Given the description of an element on the screen output the (x, y) to click on. 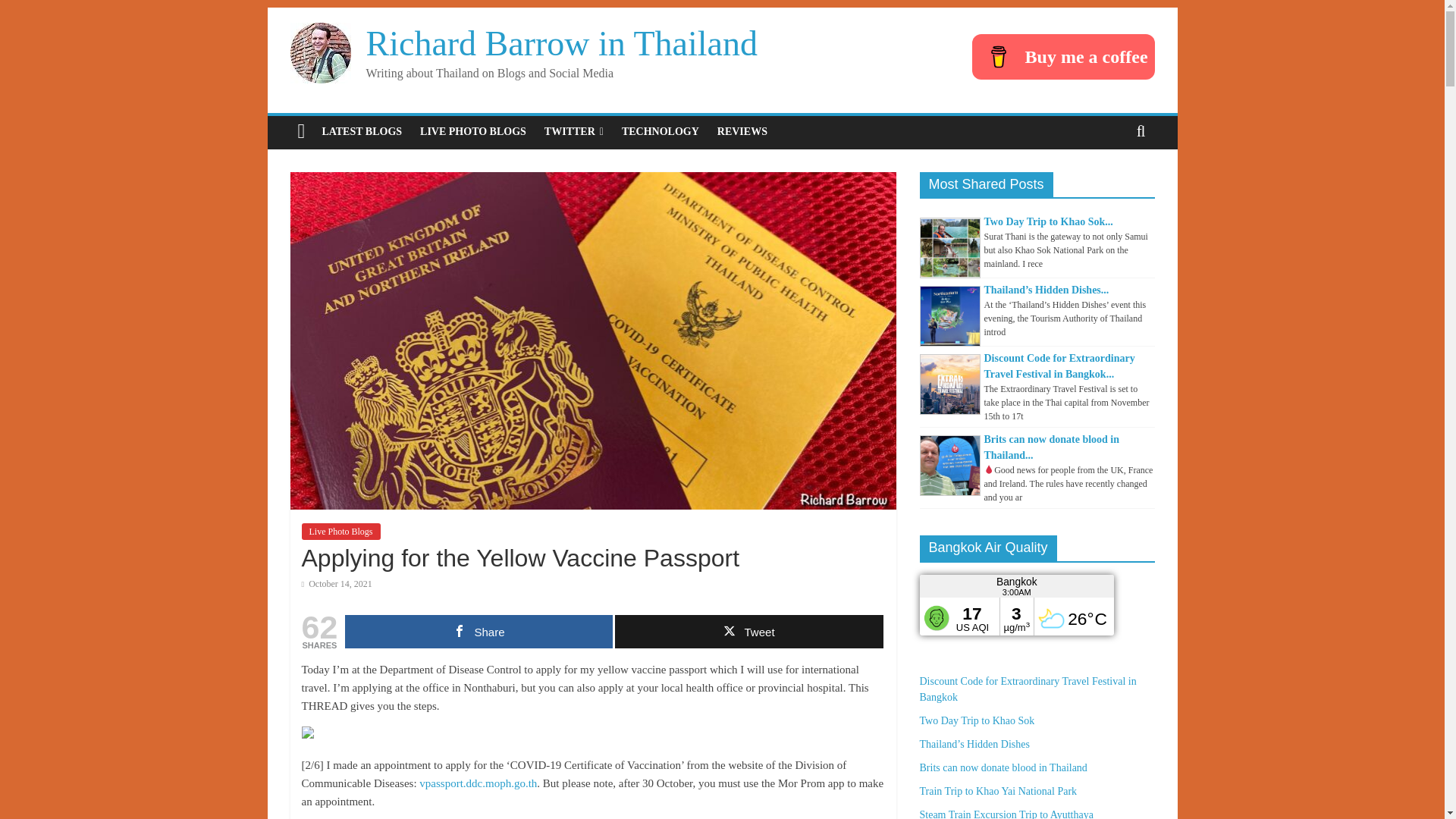
6:20 pm (336, 583)
Live Photo Blogs (340, 531)
TECHNOLOGY (659, 132)
LIVE PHOTO BLOGS (472, 132)
Share (478, 631)
TWITTER (573, 132)
Buy me a coffee (1063, 56)
LATEST BLOGS (361, 132)
Richard Barrow in Thailand (561, 43)
Tweet (748, 631)
October 14, 2021 (336, 583)
Richard Barrow in Thailand (561, 43)
vpassport.ddc.moph.go.th (478, 783)
REVIEWS (741, 132)
